Given the description of an element on the screen output the (x, y) to click on. 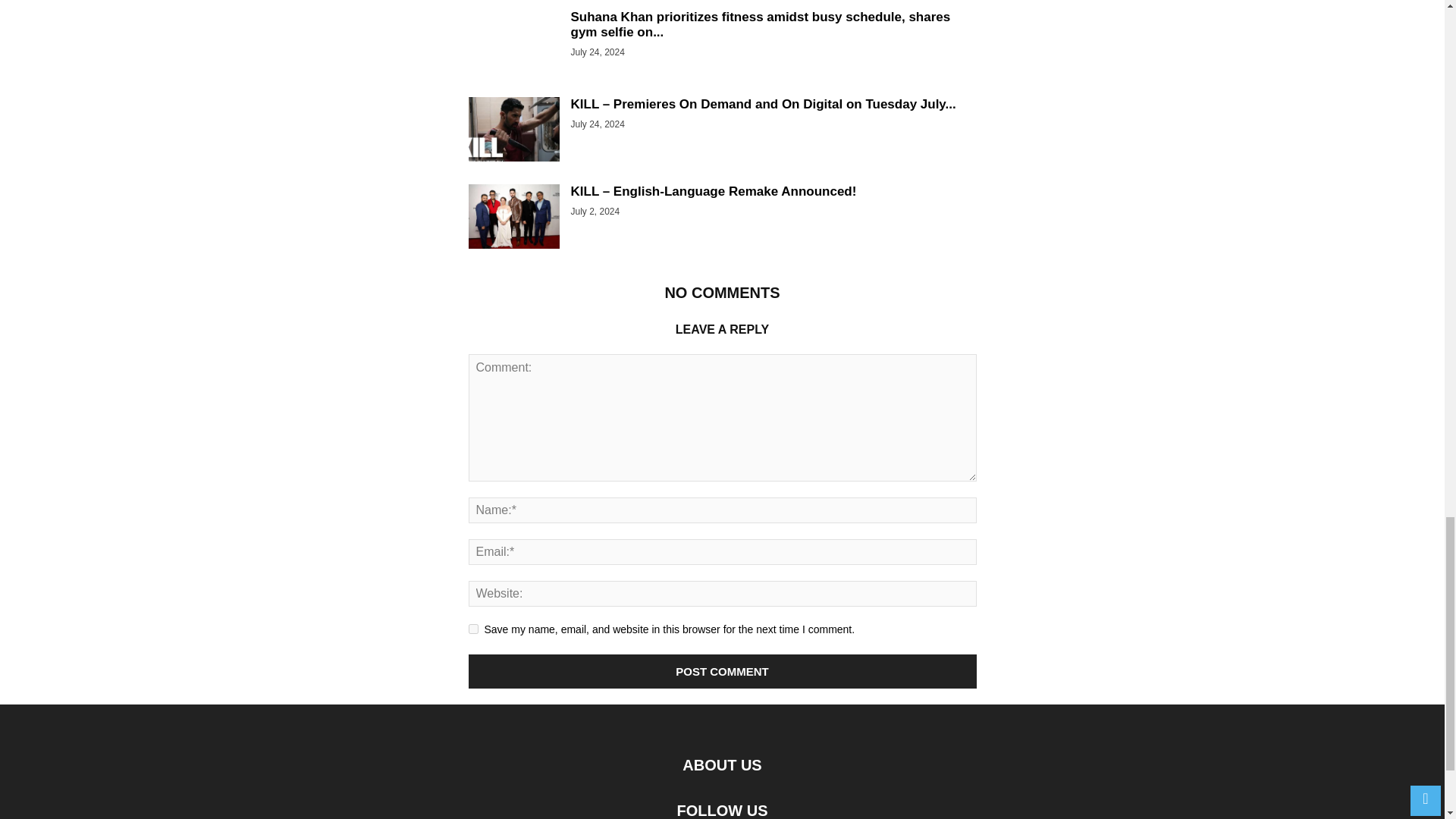
Post Comment (722, 671)
yes (473, 628)
Post Comment (722, 671)
